Given the description of an element on the screen output the (x, y) to click on. 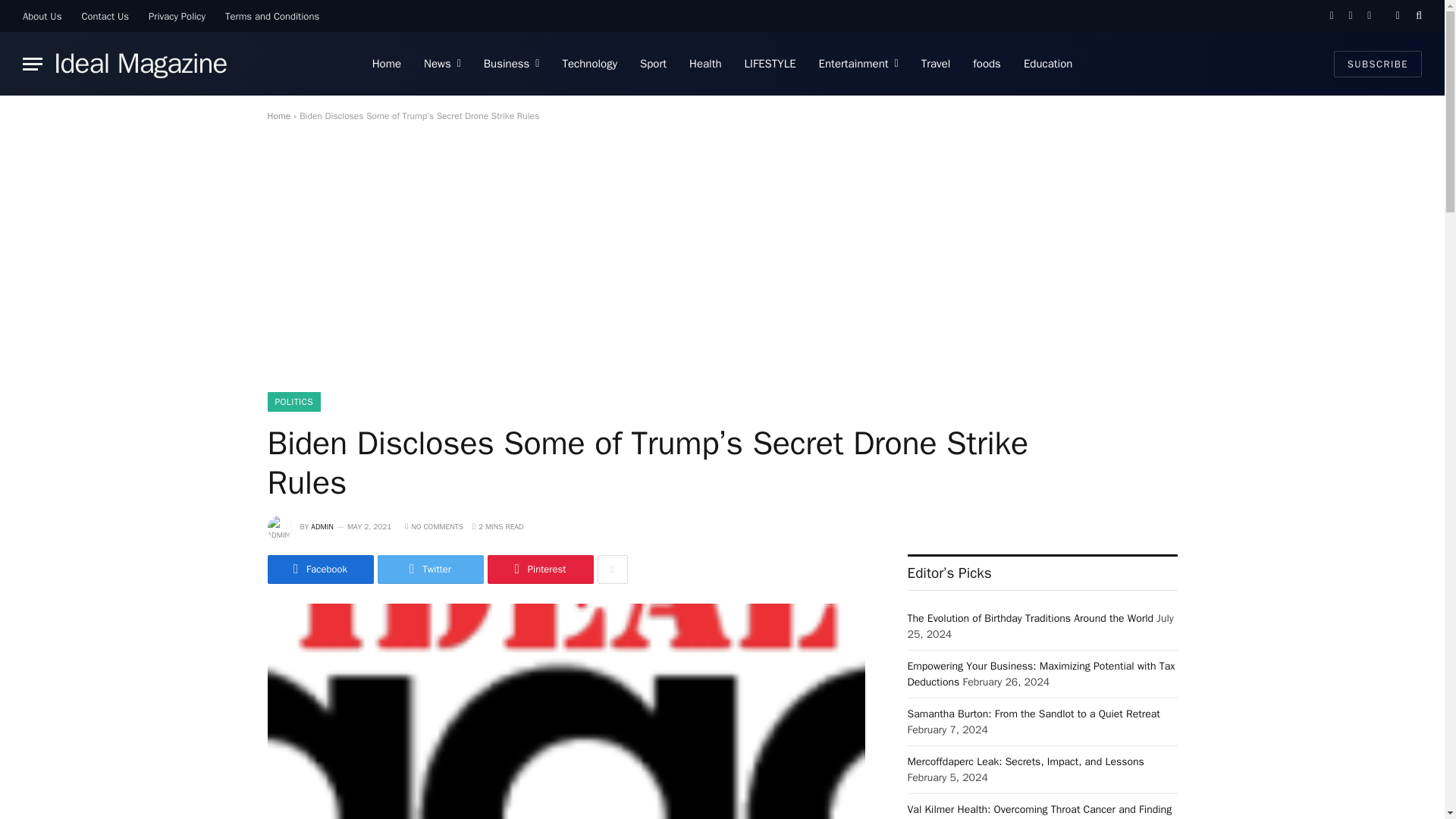
Privacy Policy (176, 15)
Terms and Conditions (272, 15)
News (441, 63)
Ideal Magazine (140, 63)
Switch to Dark Design - easier on eyes. (1397, 15)
About Us (42, 15)
Contact Us (104, 15)
Ideal Magazine (140, 63)
